Given the description of an element on the screen output the (x, y) to click on. 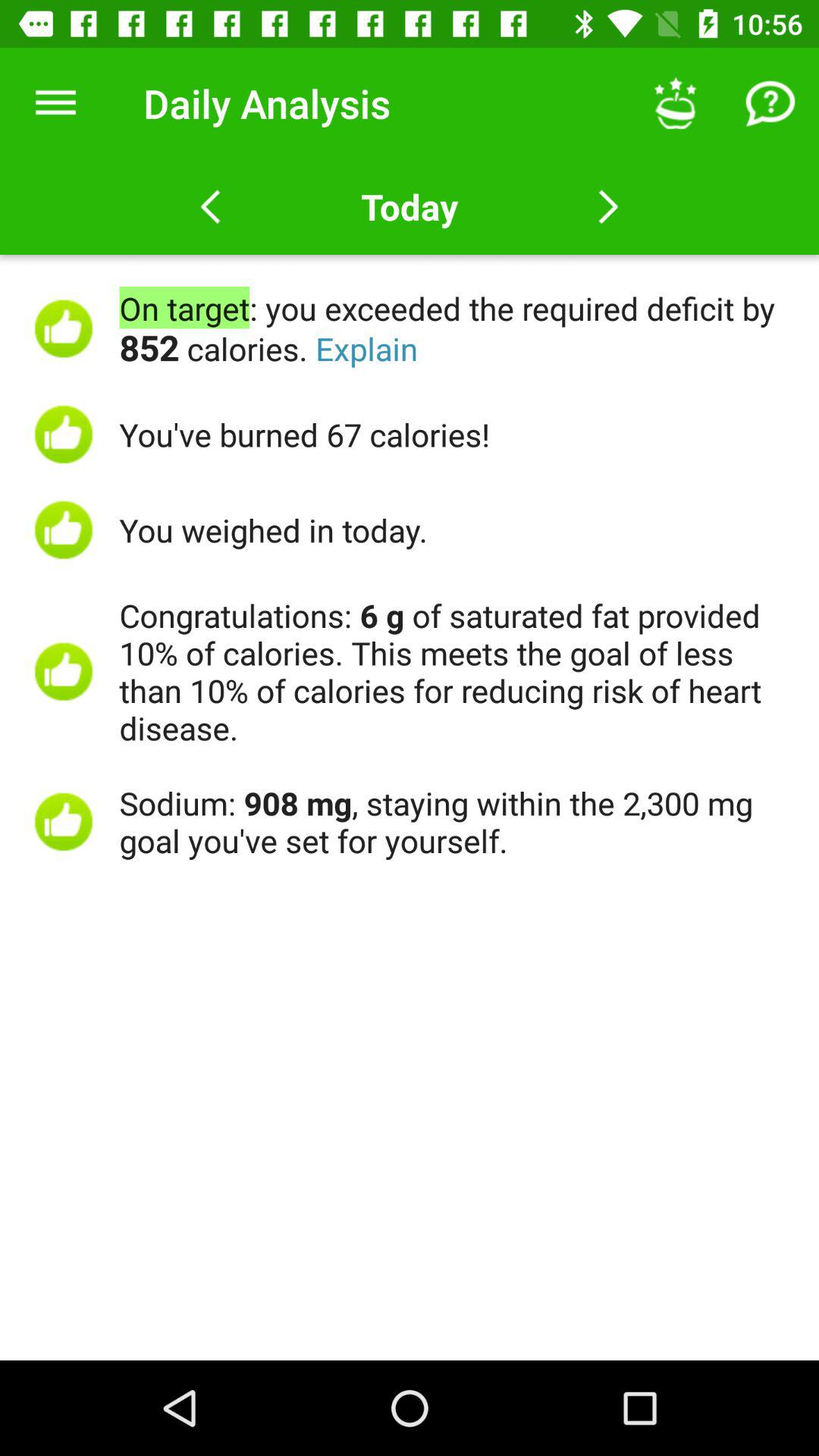
click icon next to today item (675, 103)
